Given the description of an element on the screen output the (x, y) to click on. 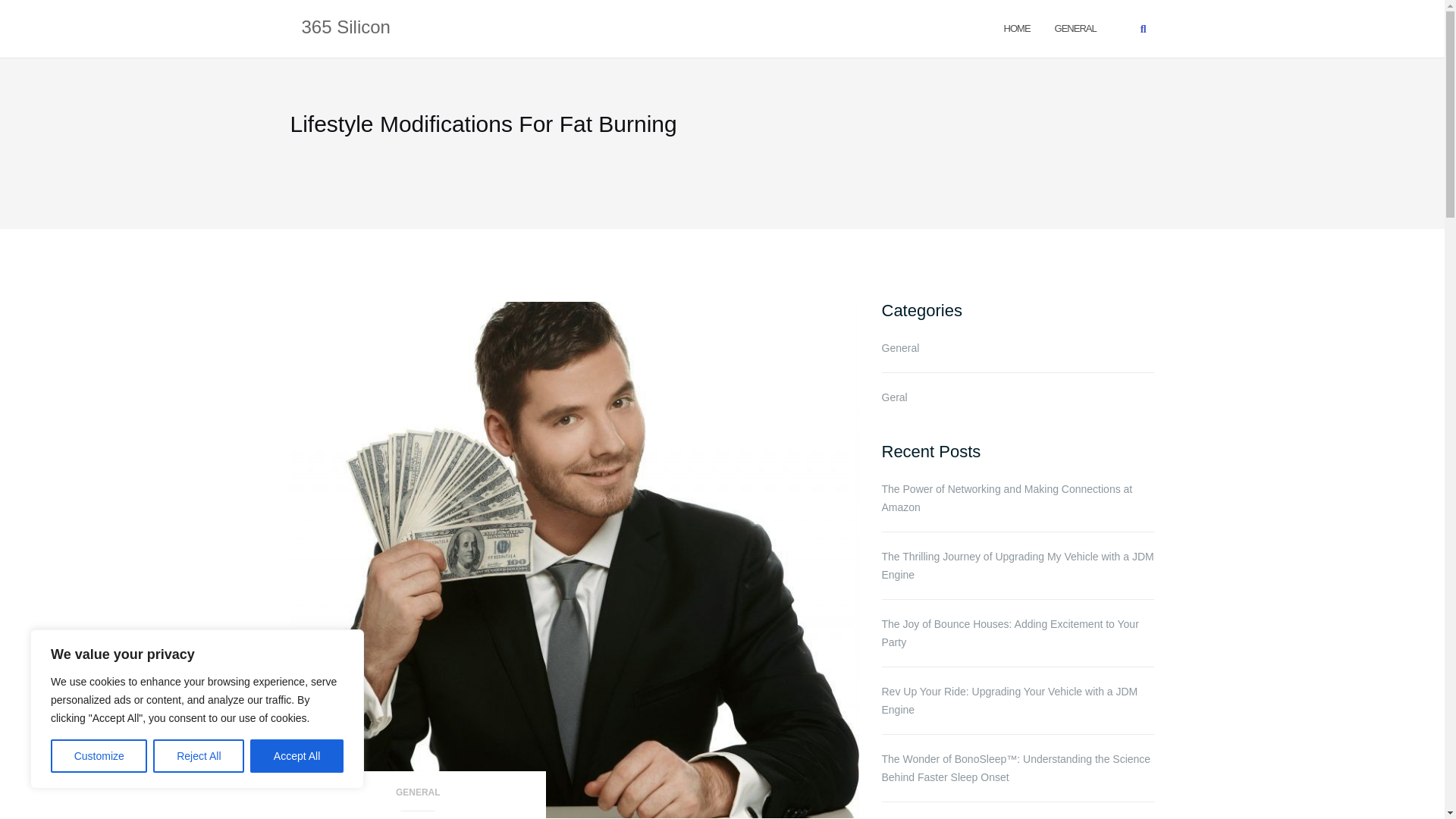
General (1075, 28)
Reject All (198, 756)
GENERAL (417, 796)
365 Silicon (345, 28)
GENERAL (1075, 28)
Accept All (296, 756)
Customize (98, 756)
